Given the description of an element on the screen output the (x, y) to click on. 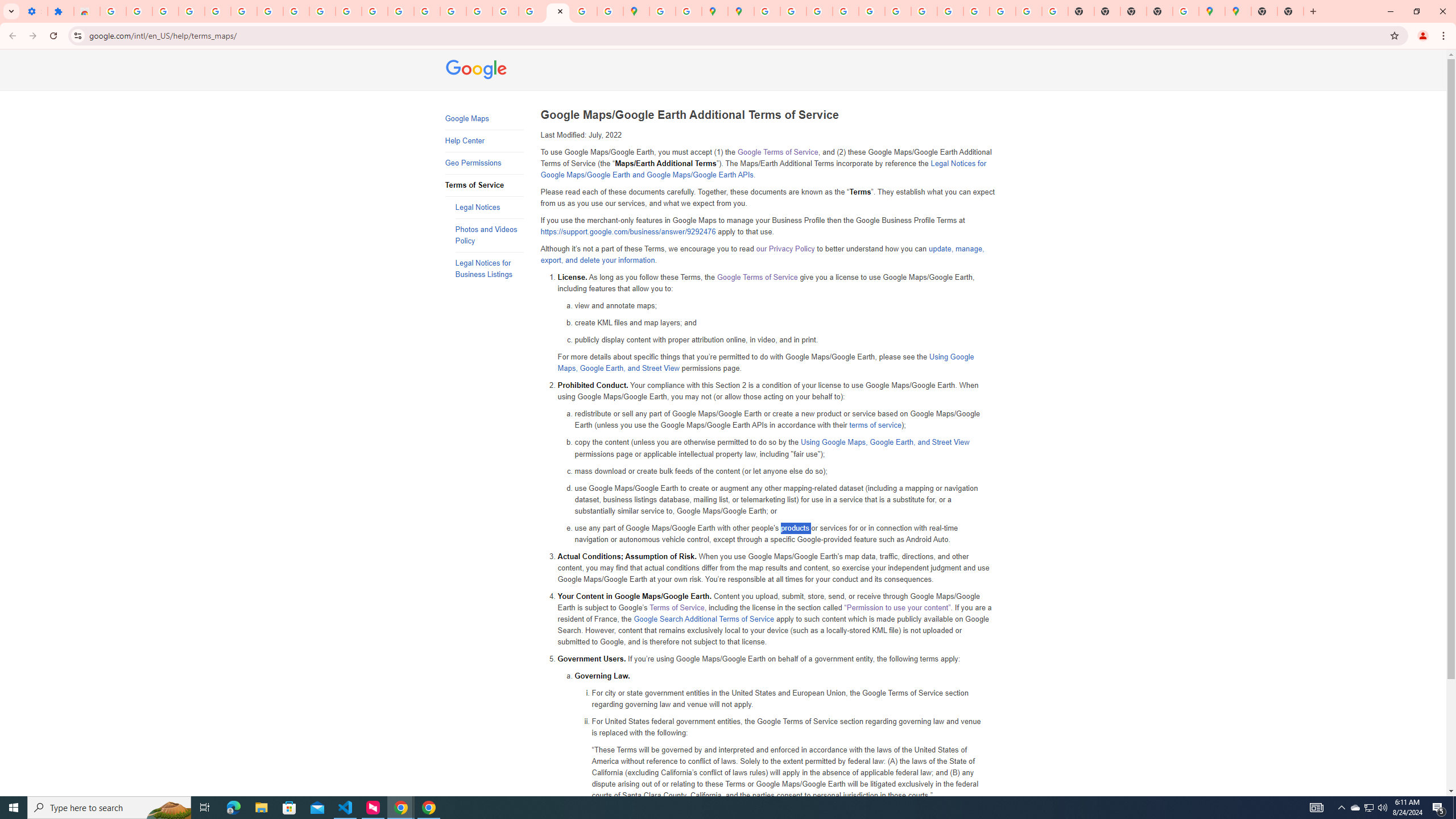
Google Account Help (243, 11)
Sign in - Google Accounts (112, 11)
Legal Notices for Business Listings (489, 268)
Google Account Help (269, 11)
Create your Google Account (689, 11)
Geo Permissions (484, 162)
Delete photos & videos - Computer - Google Photos Help (138, 11)
New Tab (1290, 11)
Google Maps (636, 11)
